Given the description of an element on the screen output the (x, y) to click on. 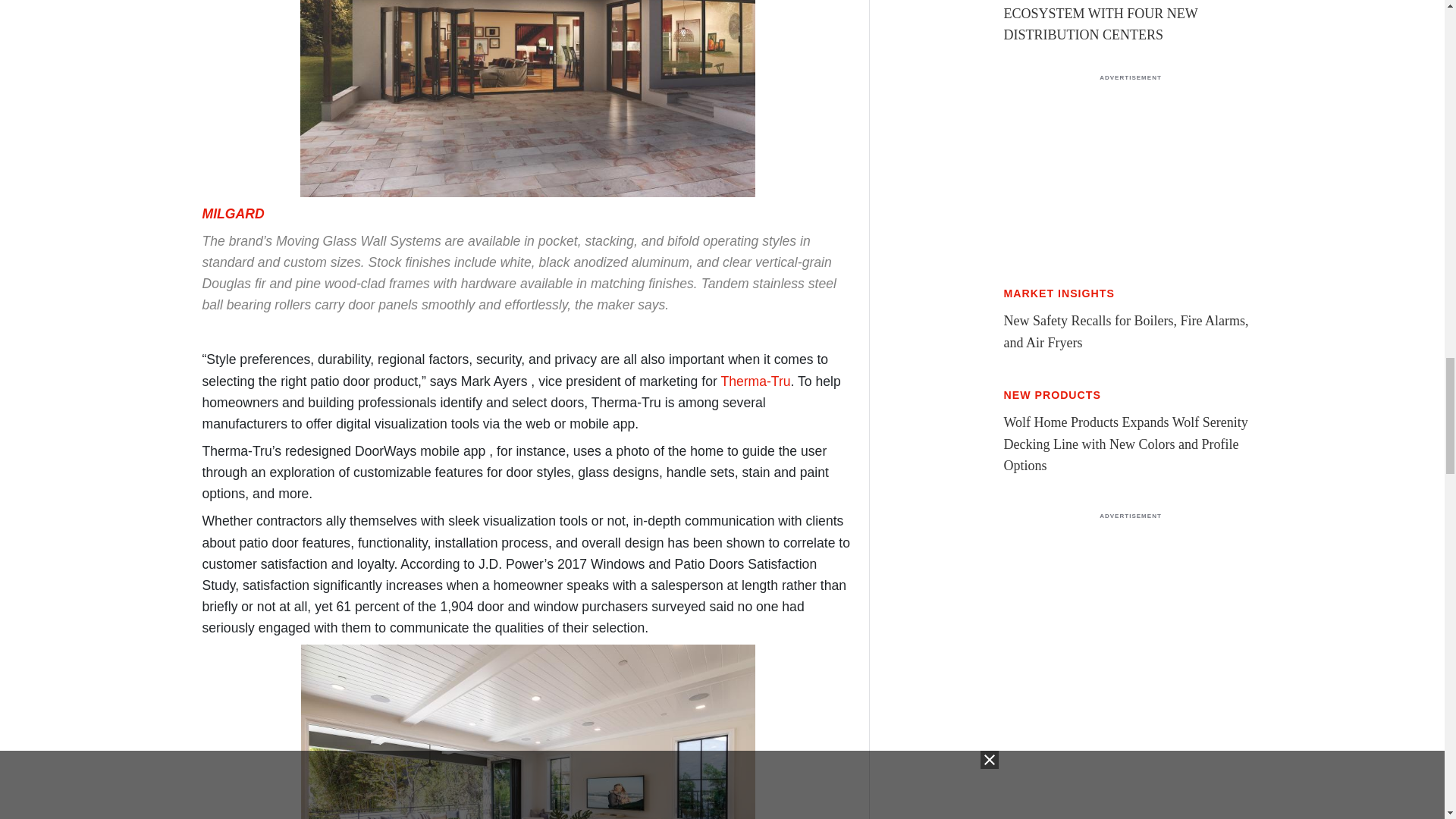
true (1130, 176)
MILGARD (232, 213)
